Given the description of an element on the screen output the (x, y) to click on. 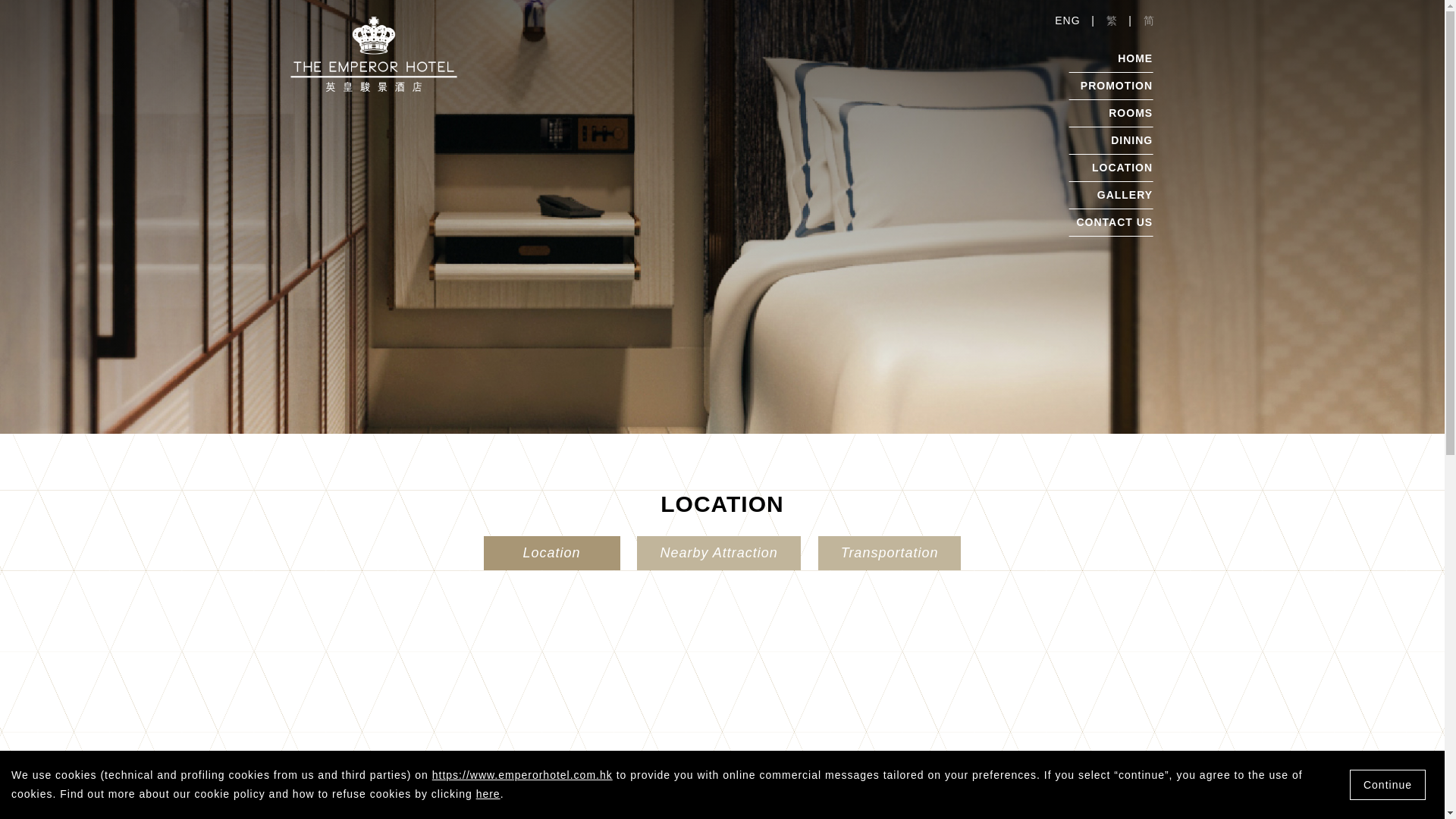
GALLERY (1125, 194)
PROMOTION (1116, 85)
ENG (1067, 20)
DINING (1131, 140)
CONTACT US (1114, 222)
LOCATION (1122, 167)
ROOMS (1130, 112)
HOME (1135, 58)
